Given the description of an element on the screen output the (x, y) to click on. 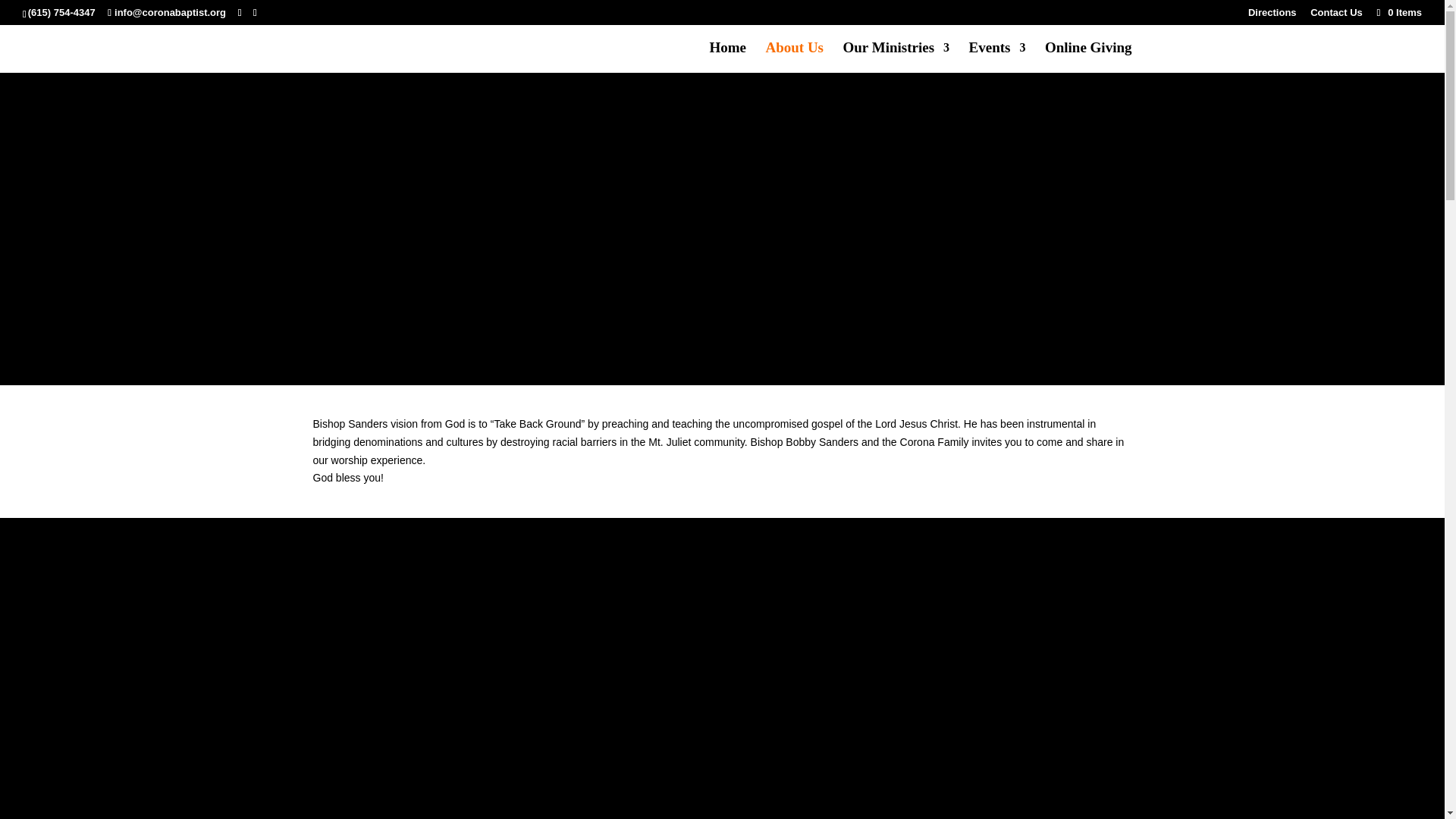
Our Ministries (896, 57)
Contact Us (1336, 16)
Directions (1272, 16)
Home (727, 57)
Events (997, 57)
About Us (794, 57)
0 Items (1398, 12)
Online Giving (1088, 57)
